Given the description of an element on the screen output the (x, y) to click on. 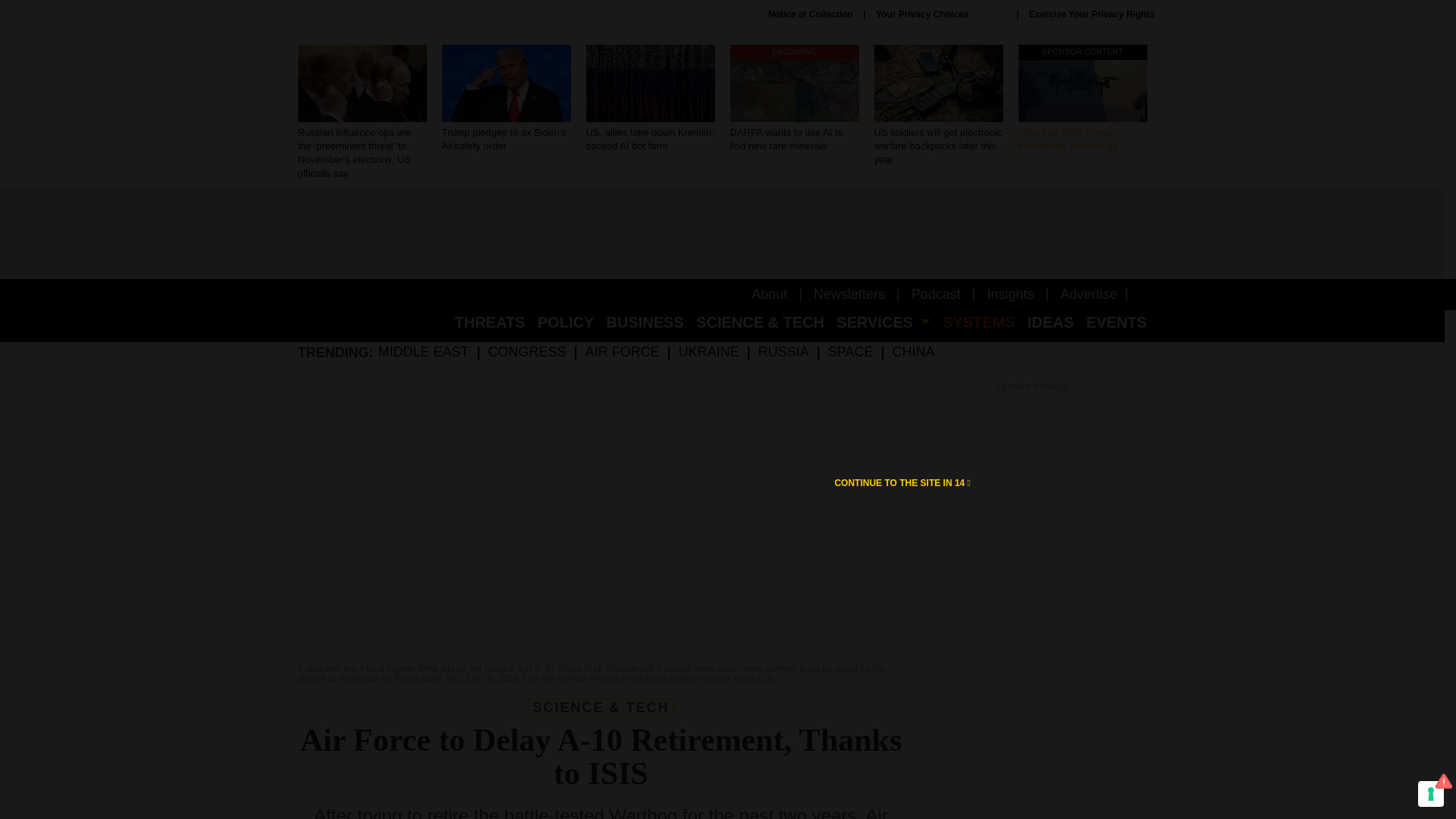
Notice at Collection (1082, 99)
US, allies take down Kremlin-backed AI bot farm (810, 14)
Advertise (649, 99)
CONTINUE TO THE SITE IN 14 (1082, 99)
Insights (1087, 294)
About (902, 482)
Podcast (794, 99)
3rd party ad content (1010, 294)
Exercise Your Privacy Rights (769, 294)
Newsletters (935, 294)
3rd party ad content (1032, 607)
